Given the description of an element on the screen output the (x, y) to click on. 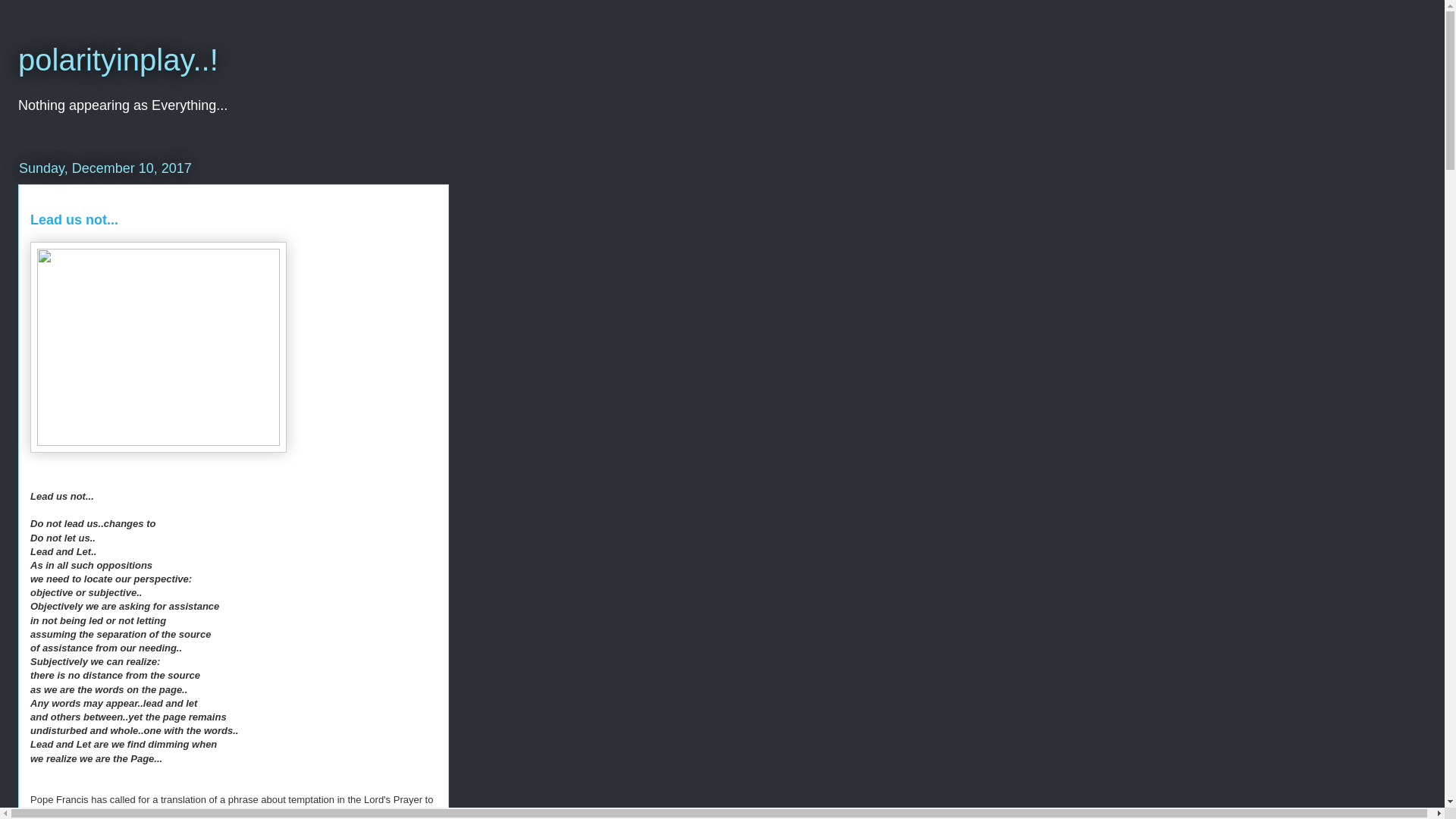
polarityinplay..! (117, 59)
